Given the description of an element on the screen output the (x, y) to click on. 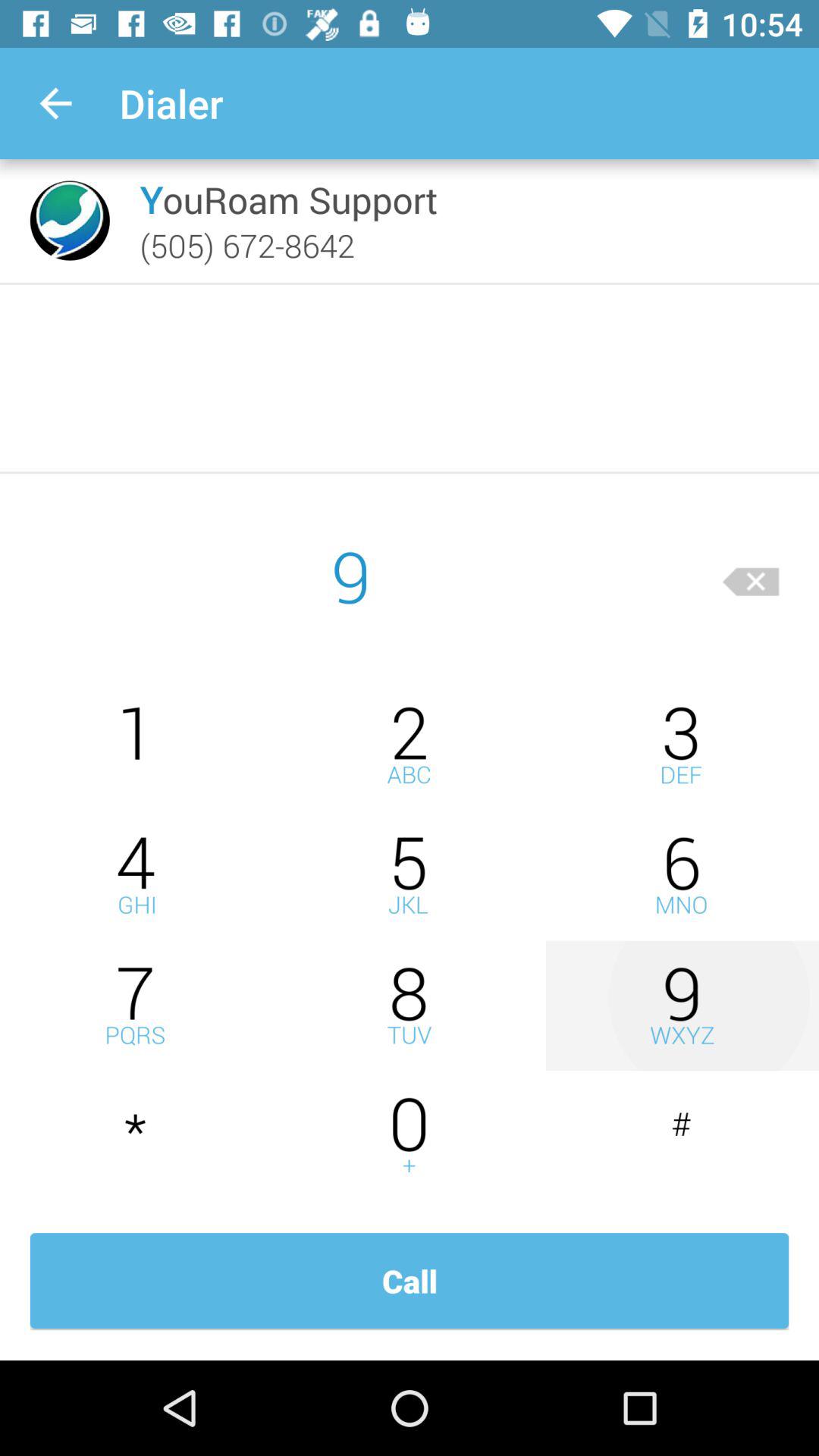
select 5 (409, 875)
